Given the description of an element on the screen output the (x, y) to click on. 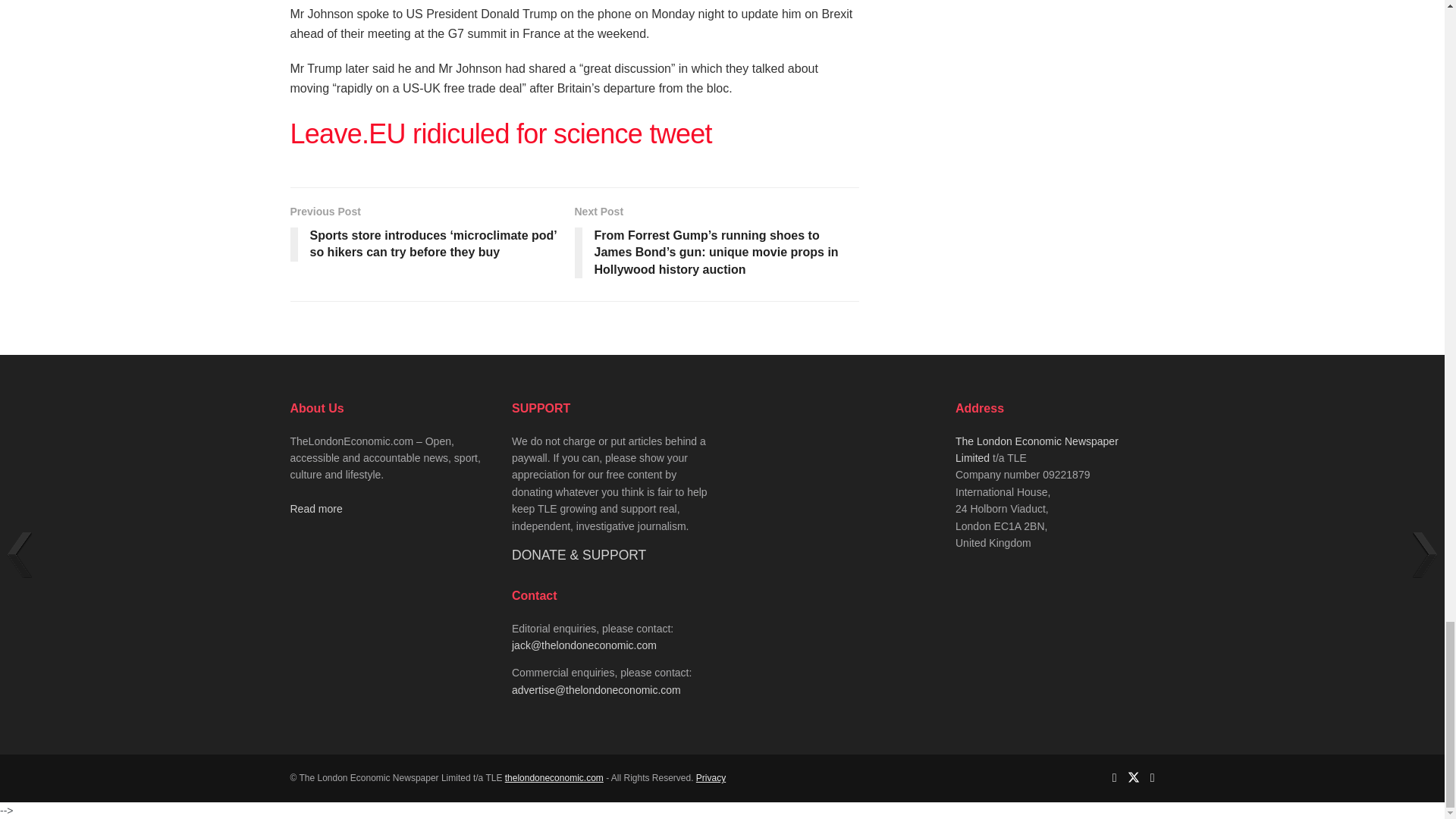
Privacy (710, 777)
The London Economic (554, 777)
